Given the description of an element on the screen output the (x, y) to click on. 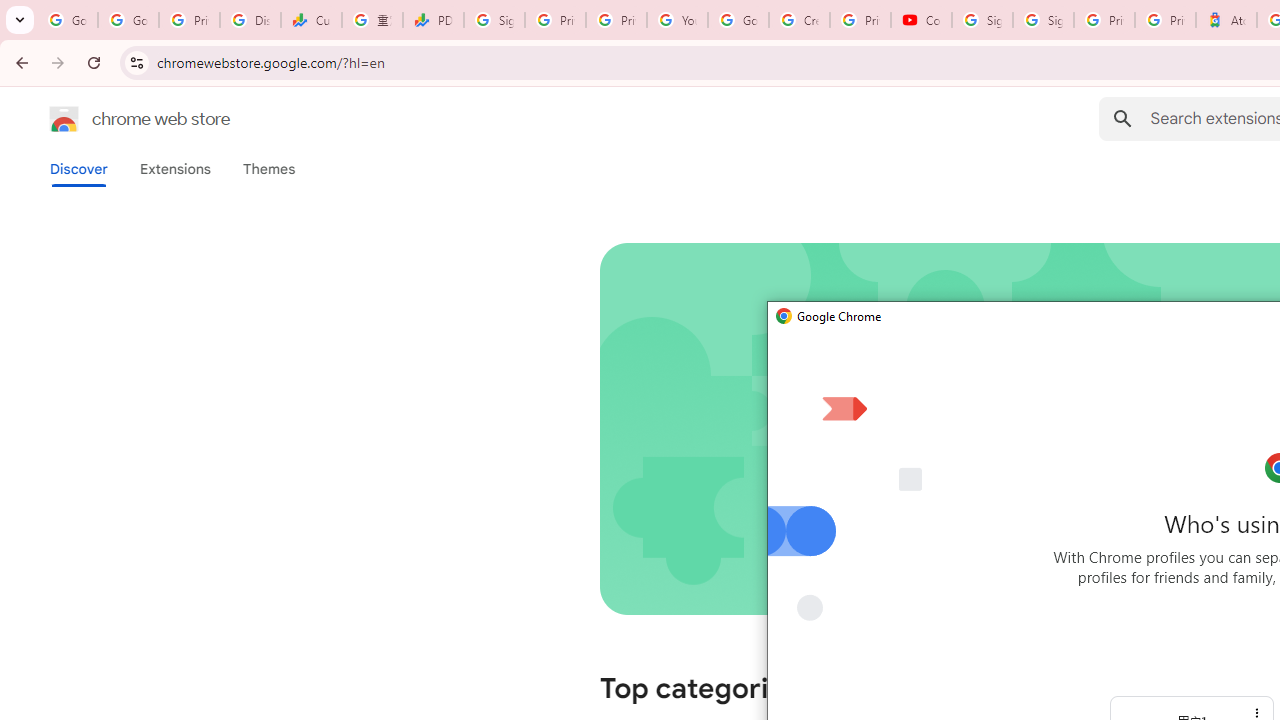
Sign in - Google Accounts (982, 20)
Google Workspace Admin Community (67, 20)
Privacy Checkup (616, 20)
YouTube (676, 20)
Extensions (174, 169)
Content Creator Programs & Opportunities - YouTube Creators (921, 20)
Sign in - Google Accounts (1042, 20)
Chrome Web Store logo (63, 118)
Themes (269, 169)
